Given the description of an element on the screen output the (x, y) to click on. 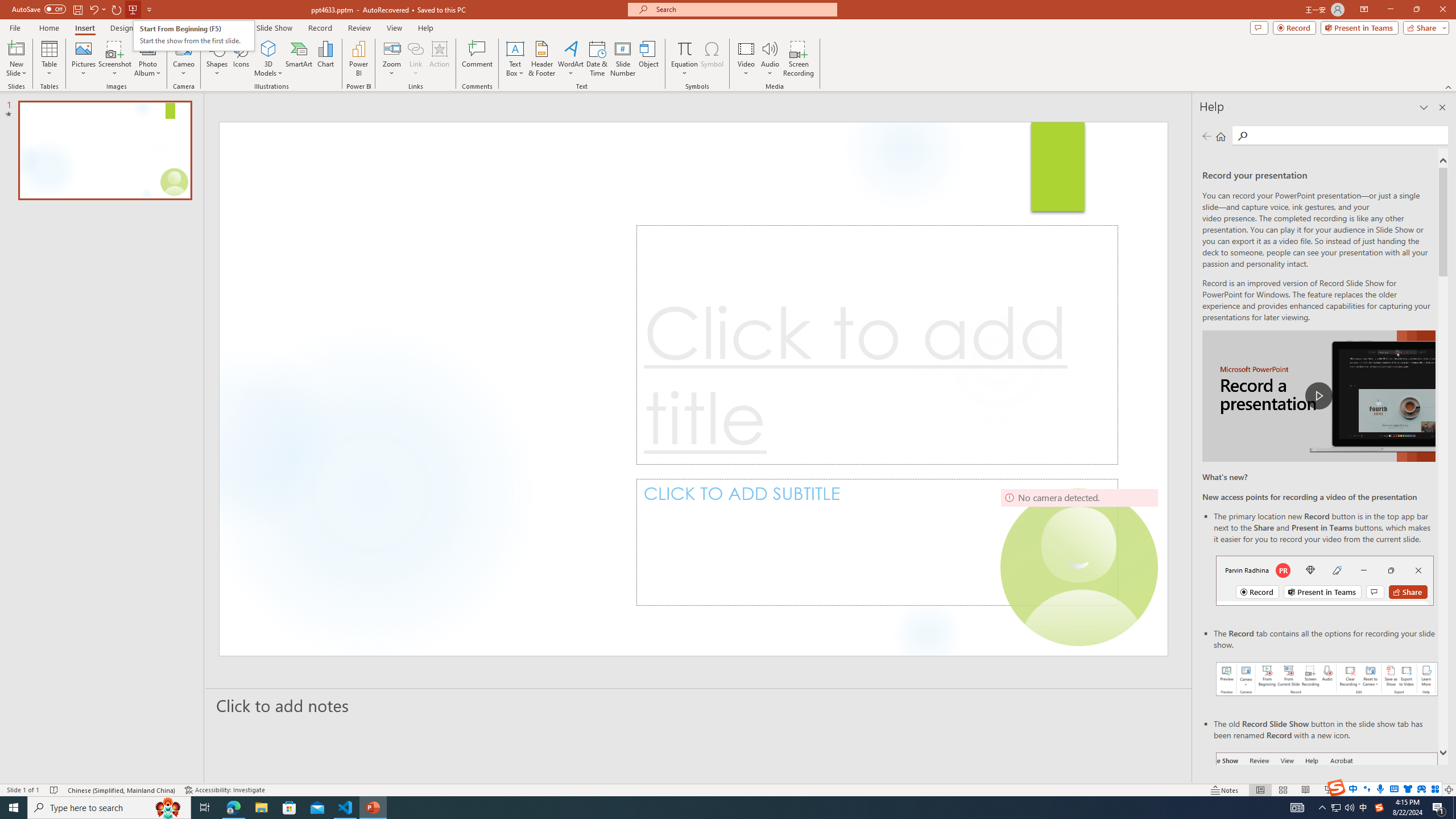
Record button in top bar (1324, 580)
Table (49, 58)
WordArt (570, 58)
Zoom 131% (1430, 790)
Previous page (1206, 136)
Link (415, 58)
3D Models (268, 58)
